Given the description of an element on the screen output the (x, y) to click on. 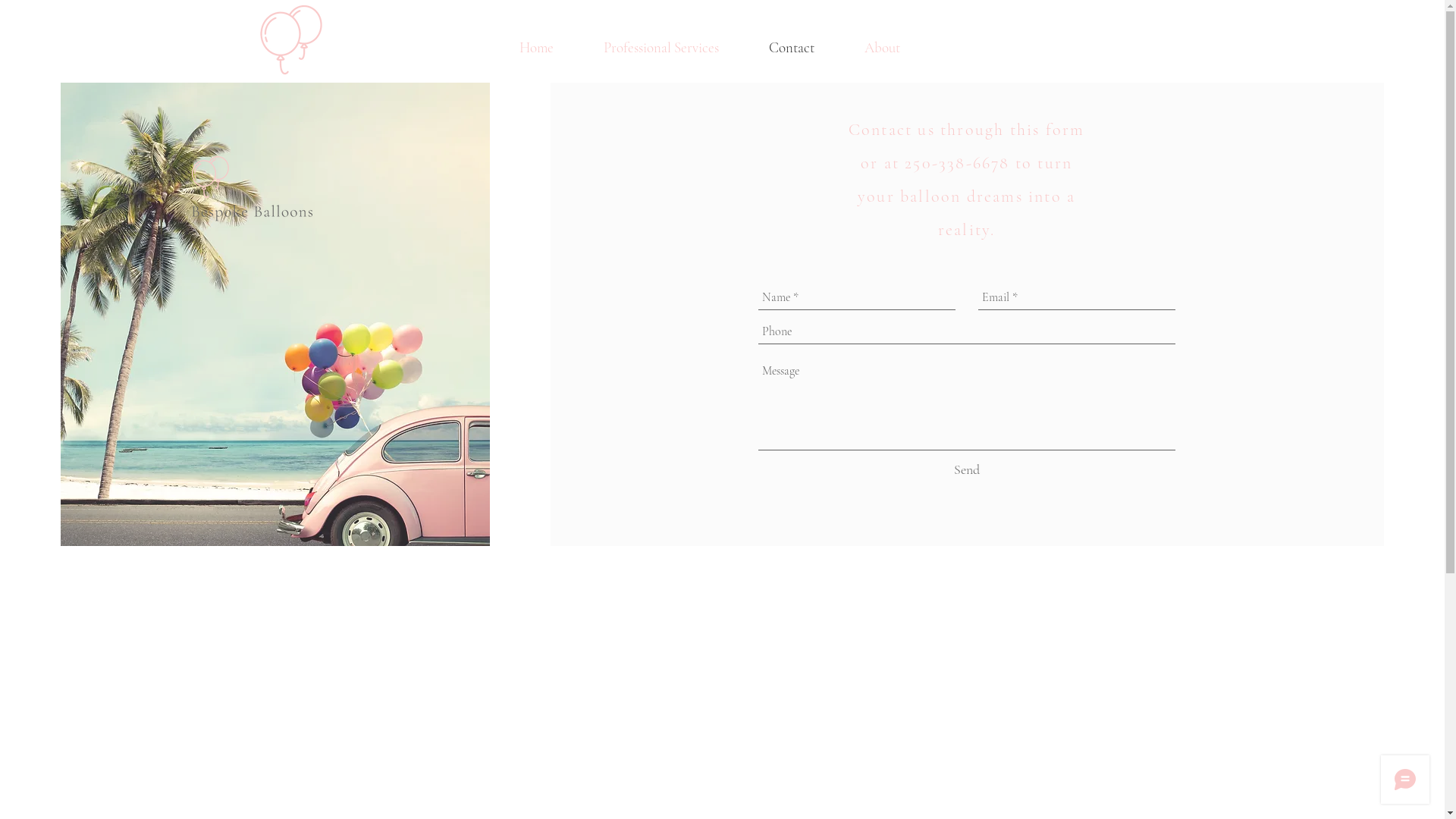
Contact Element type: text (791, 47)
Home Element type: text (535, 47)
Professional Services Element type: text (660, 47)
About Element type: text (882, 47)
Send Element type: text (966, 469)
